Given the description of an element on the screen output the (x, y) to click on. 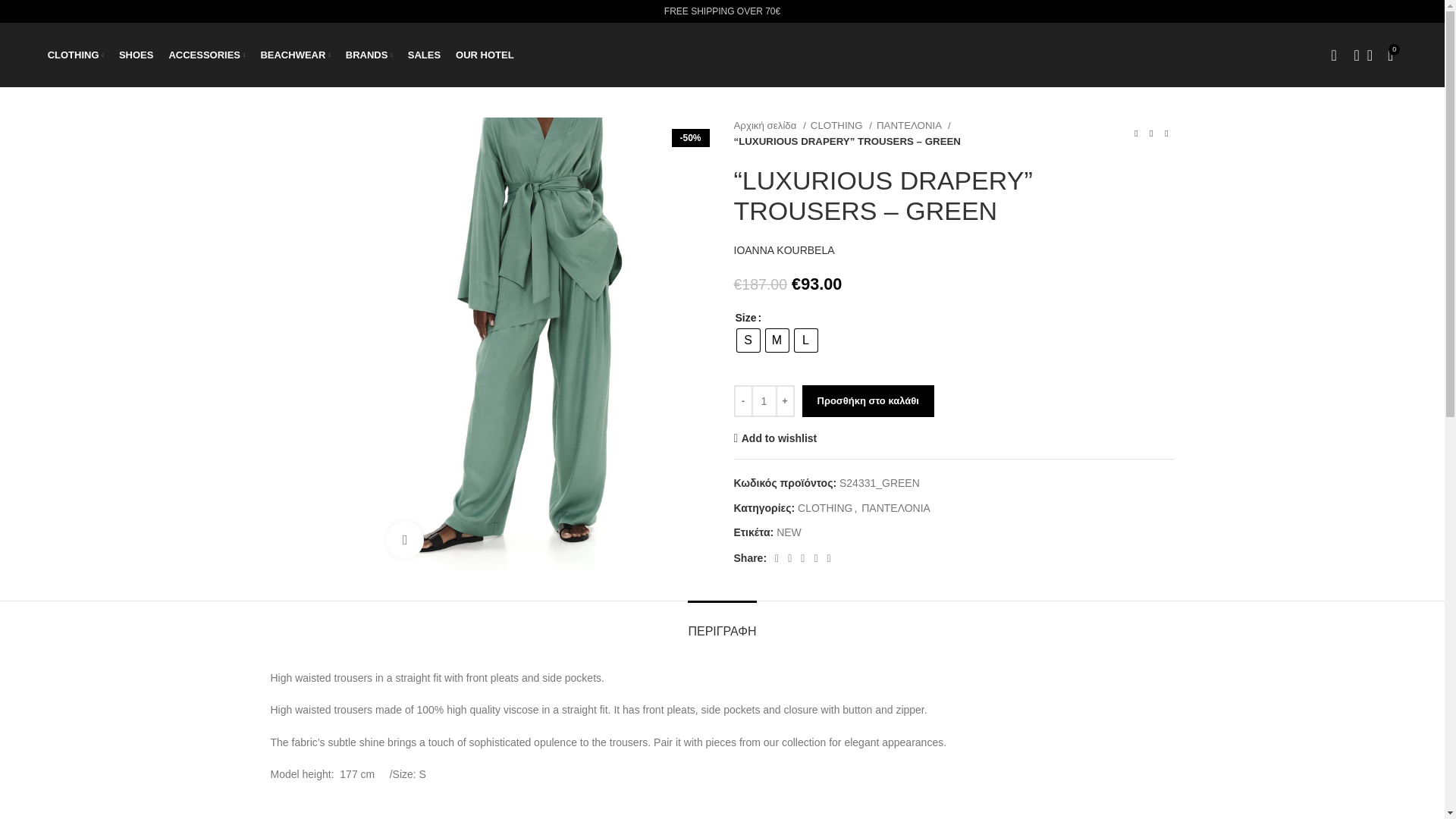
M (777, 340)
BEACHWEAR (295, 54)
L (805, 340)
SHOES (136, 54)
CLOTHING (75, 54)
S (748, 340)
BRANDS (369, 54)
ACCESSORIES (206, 54)
